Given the description of an element on the screen output the (x, y) to click on. 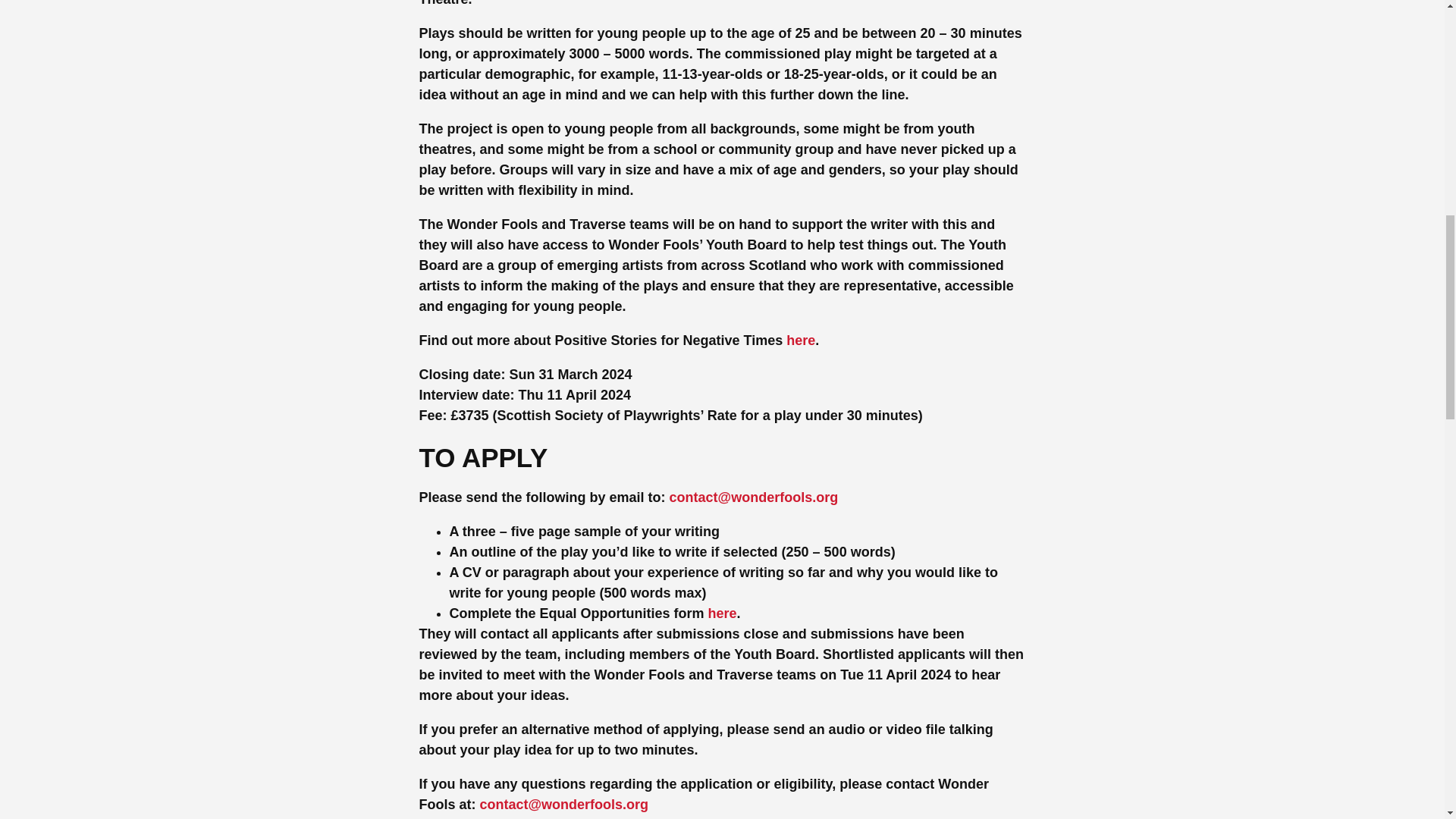
here (800, 340)
here (721, 613)
